Given the description of an element on the screen output the (x, y) to click on. 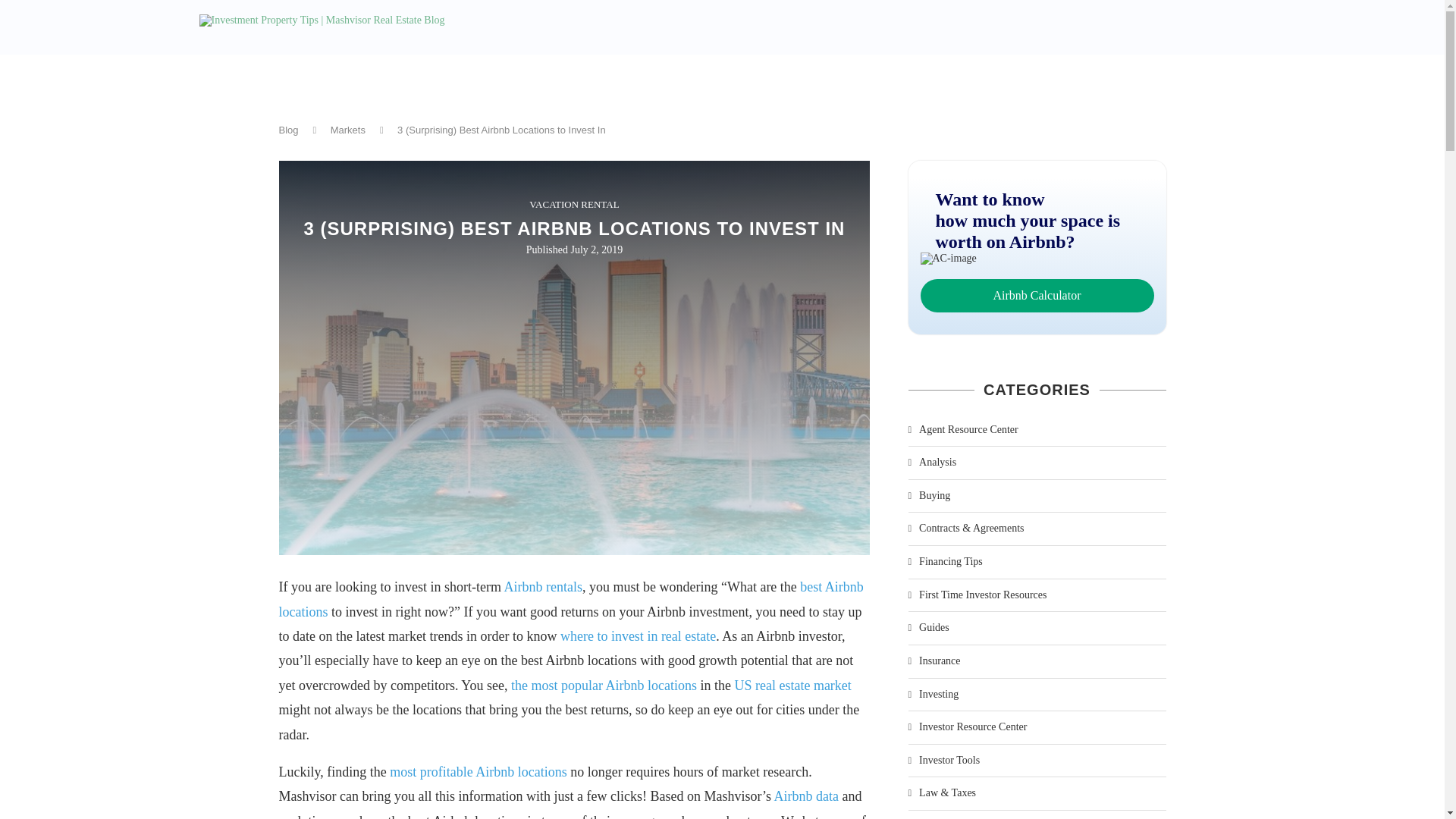
most profitable Airbnb locations (478, 771)
US real estate market (791, 685)
where to invest in real estate (638, 635)
best Airbnb locations (571, 599)
Markets (347, 129)
Blog (288, 129)
the most popular Airbnb locations (604, 685)
VACATION RENTAL (573, 204)
Airbnb rentals (541, 586)
Airbnb data (806, 795)
Blog (288, 129)
